Given the description of an element on the screen output the (x, y) to click on. 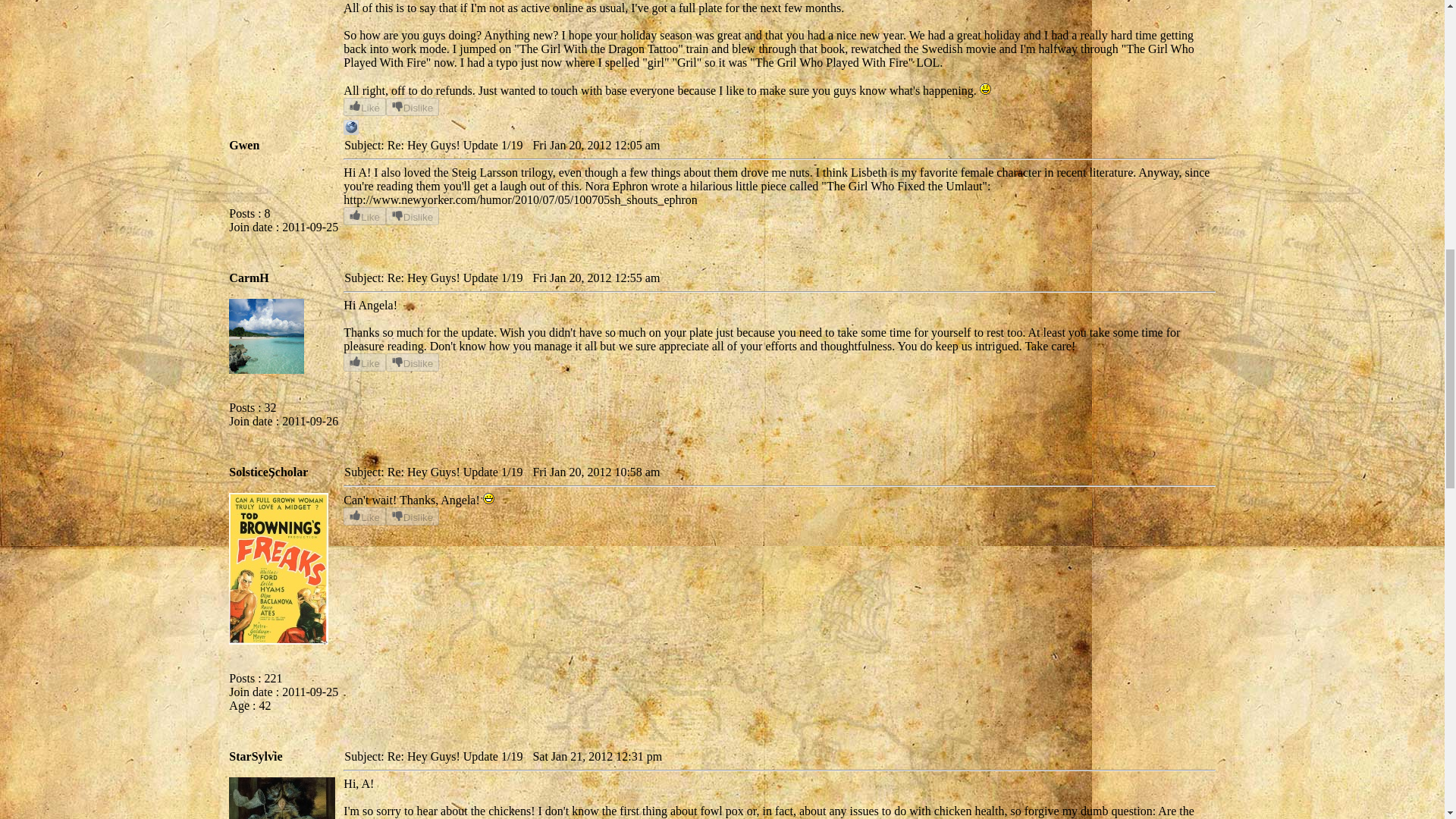
Visit poster's website (350, 130)
Dislike (412, 361)
Dislike (412, 515)
Dislike (412, 216)
Like (364, 106)
Like (364, 216)
Like (364, 361)
Like (364, 515)
Dislike (412, 106)
